Given the description of an element on the screen output the (x, y) to click on. 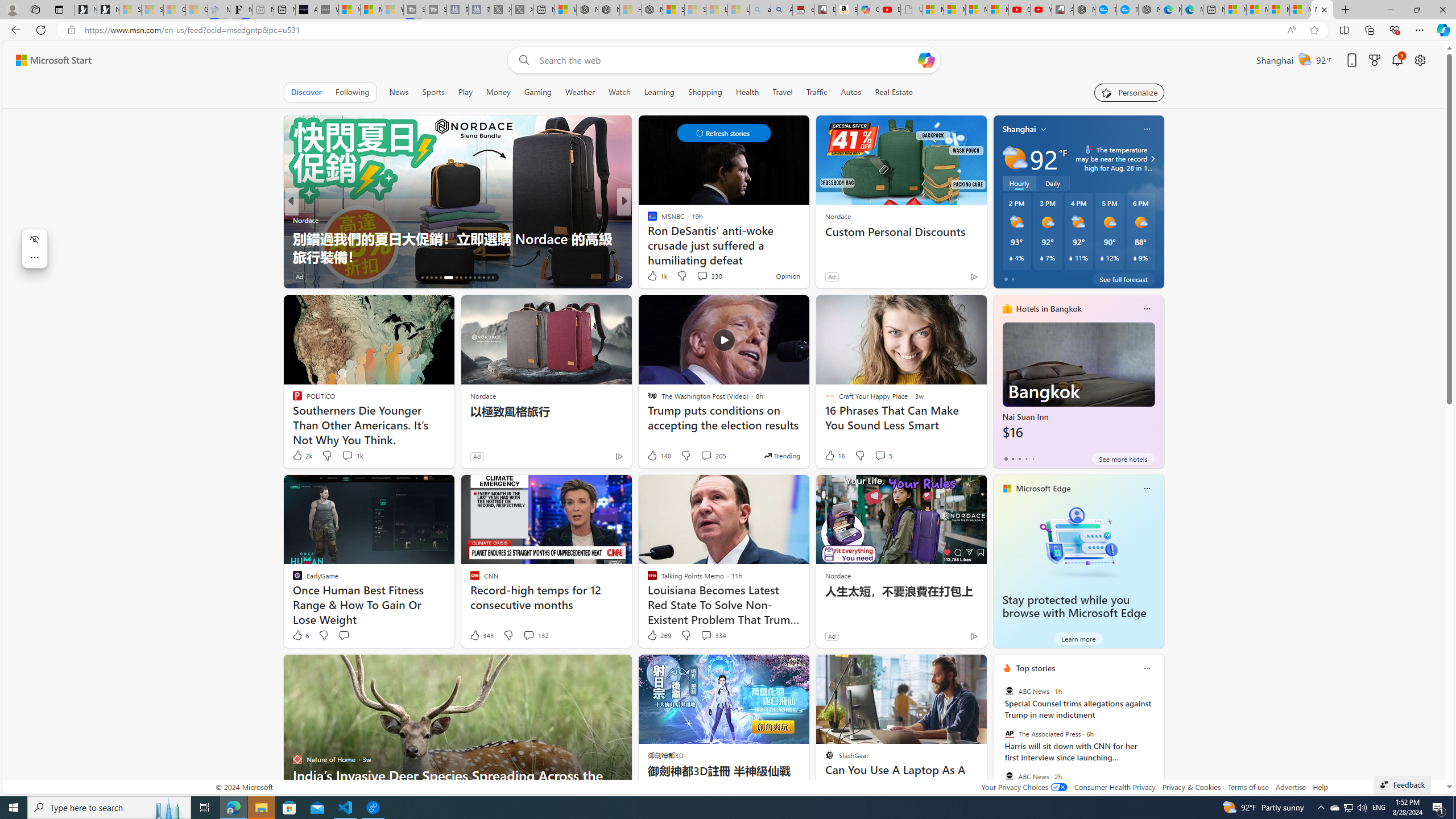
AutomationID: tab-22 (456, 277)
Enter your search term (726, 59)
Hotels in Bangkok (1048, 308)
AutomationID: tab-23 (460, 277)
Newsweek (647, 219)
View comments 39 Comment (6, 276)
Top stories (1035, 668)
View comments 266 Comment (709, 276)
91 Like (652, 276)
AutomationID: tab-21 (448, 277)
